Given the description of an element on the screen output the (x, y) to click on. 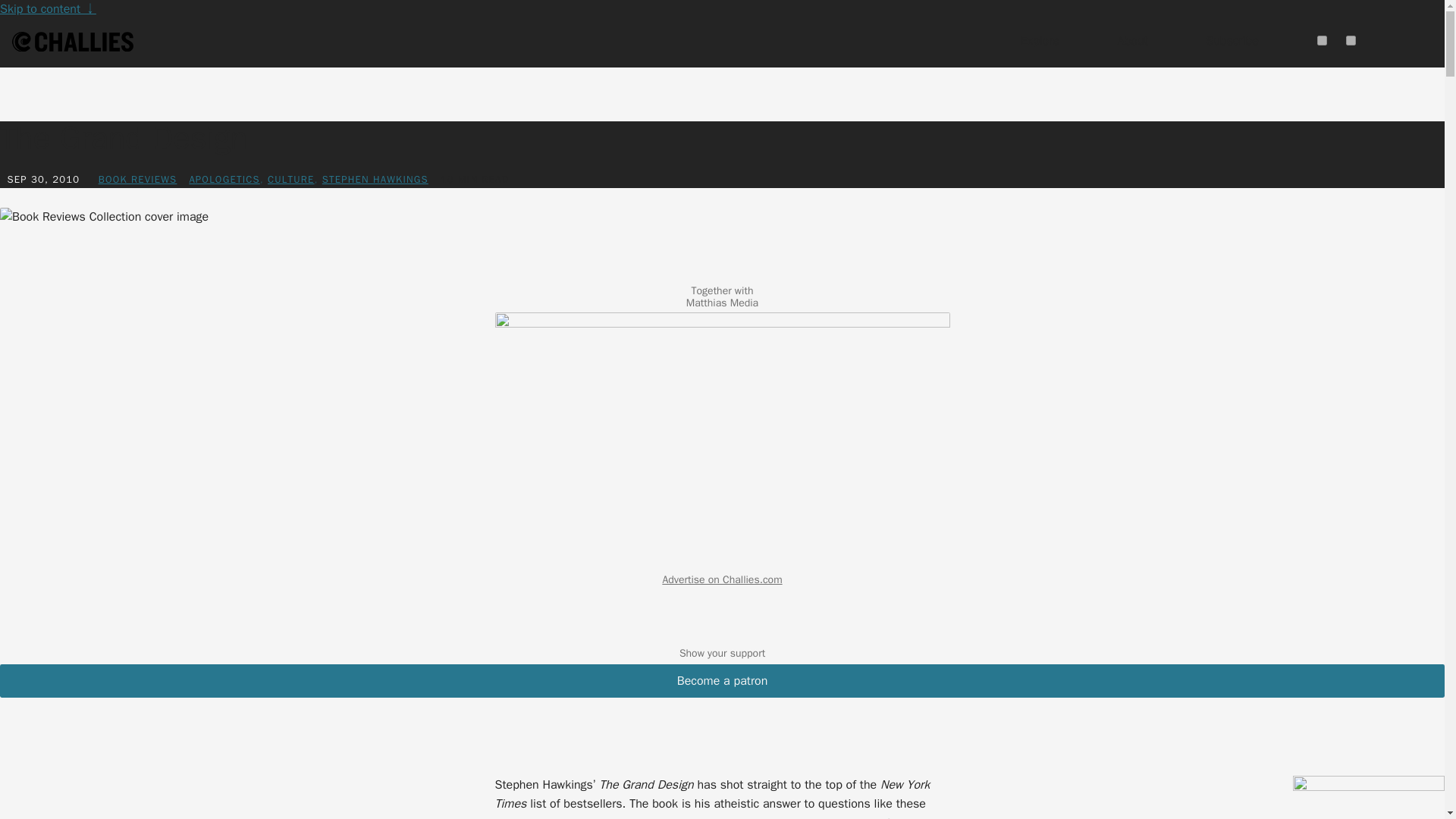
SEP 30, 2010 (43, 178)
STEPHEN HAWKINGS (374, 178)
Switch dark mode (1321, 40)
Challies logo (72, 44)
on (1321, 40)
Advertise on Challies.com (721, 579)
Matthias Media (721, 302)
Subscribe (1231, 40)
Challies logo (72, 41)
Switch large size (1350, 40)
1642 words (475, 179)
Sep 30, 2010 at 11:30 am (43, 178)
Open menu (1422, 40)
About (1133, 40)
Explore (1039, 40)
